Given the description of an element on the screen output the (x, y) to click on. 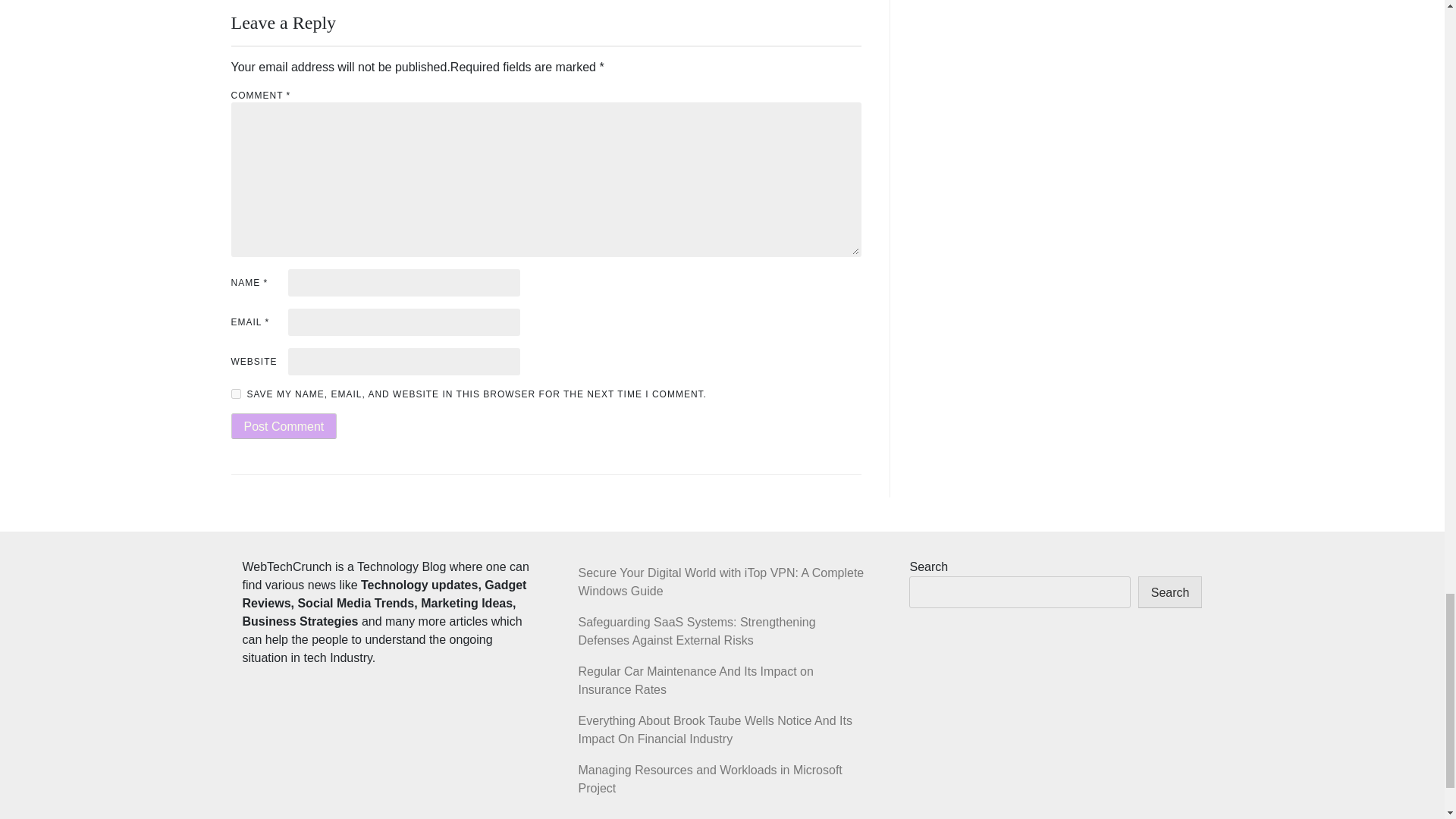
yes (235, 393)
Post Comment (283, 425)
